Given the description of an element on the screen output the (x, y) to click on. 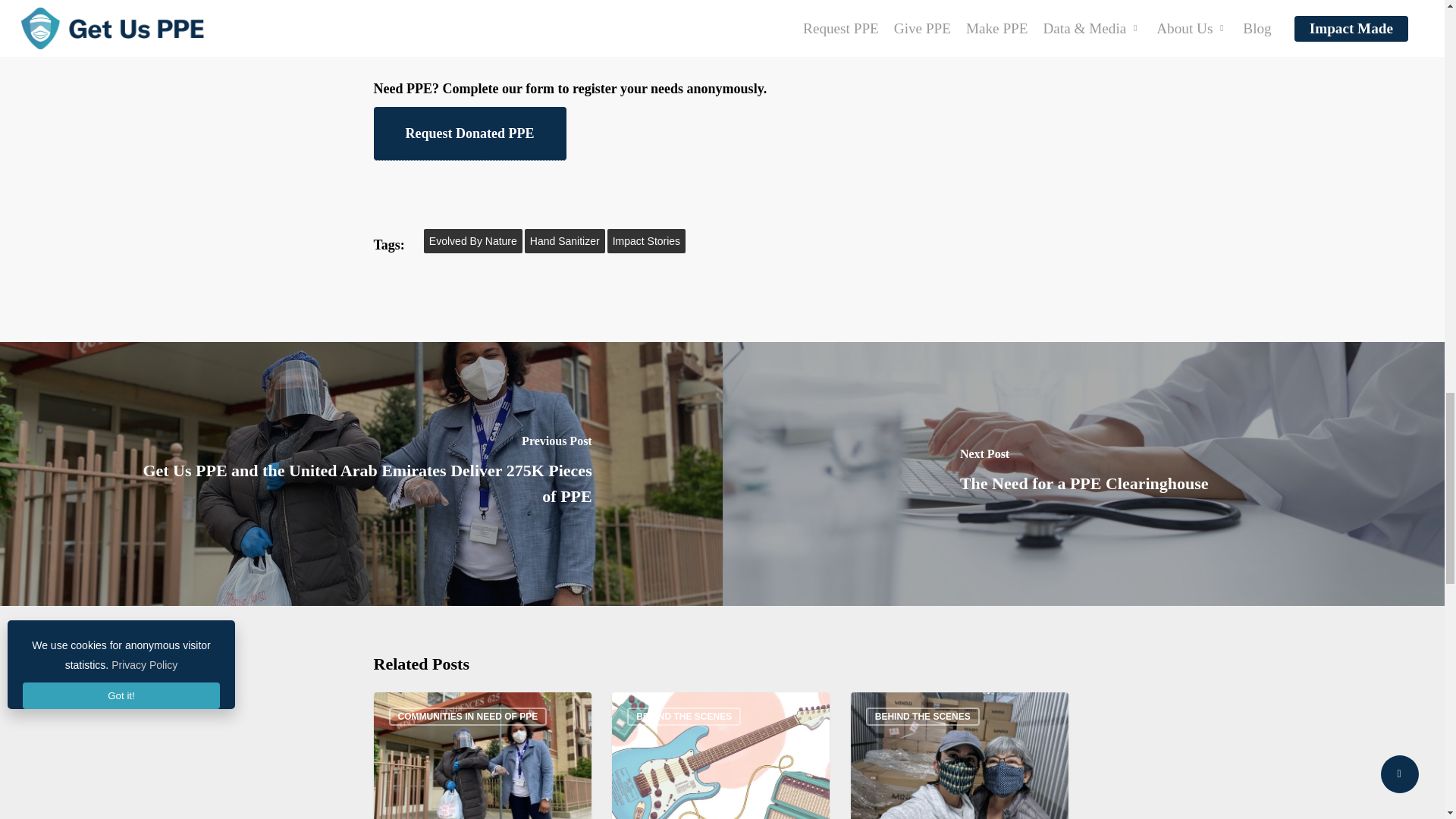
COMMUNITIES IN NEED OF PPE (467, 716)
Evolved By Nature (472, 241)
Request Donated PPE (469, 133)
Impact Stories (646, 241)
Hand Sanitizer (564, 241)
